Given the description of an element on the screen output the (x, y) to click on. 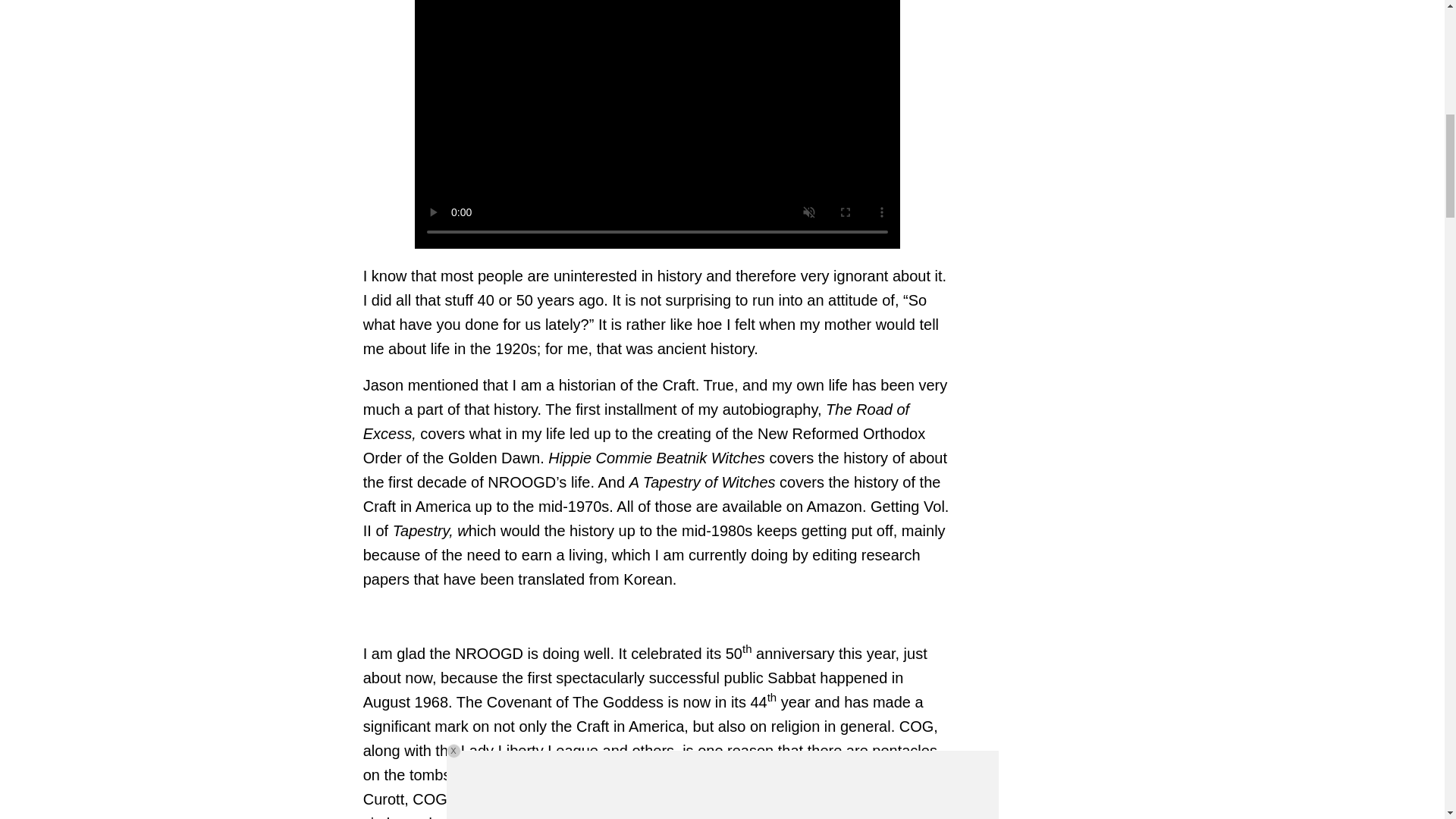
3rd party ad content (1098, 19)
